Given the description of an element on the screen output the (x, y) to click on. 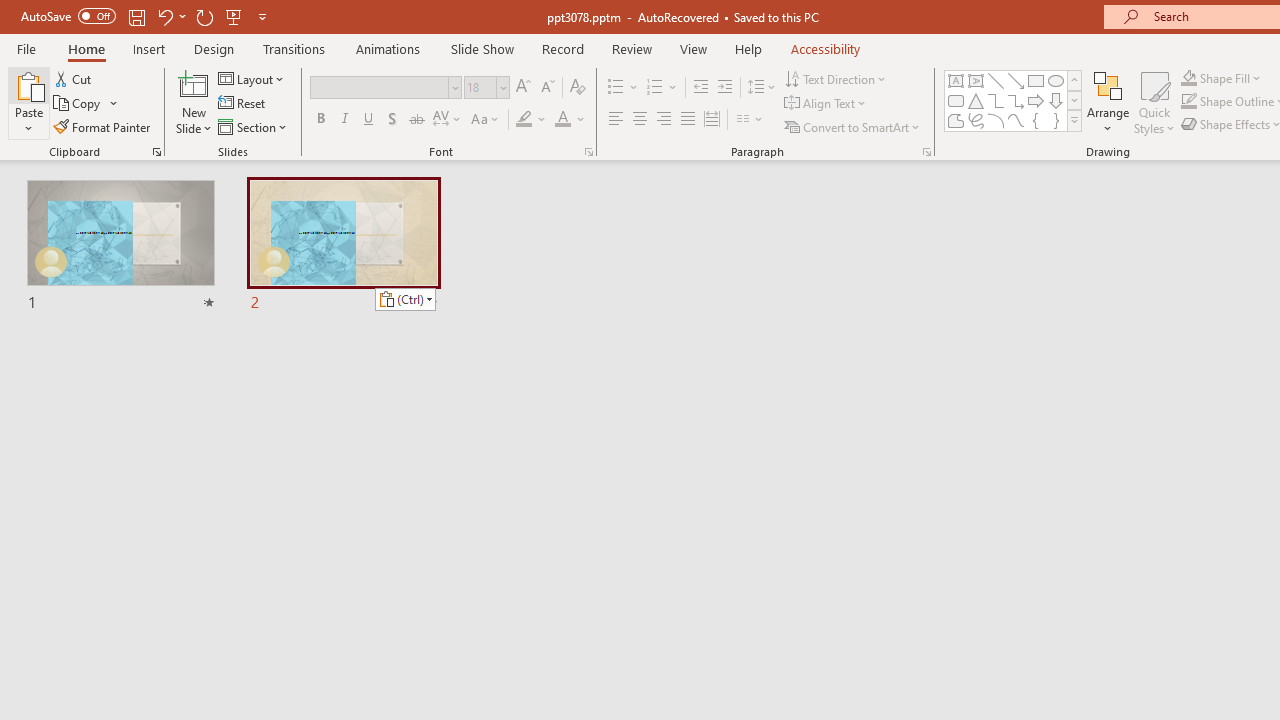
Action: Paste alternatives (405, 299)
